Given the description of an element on the screen output the (x, y) to click on. 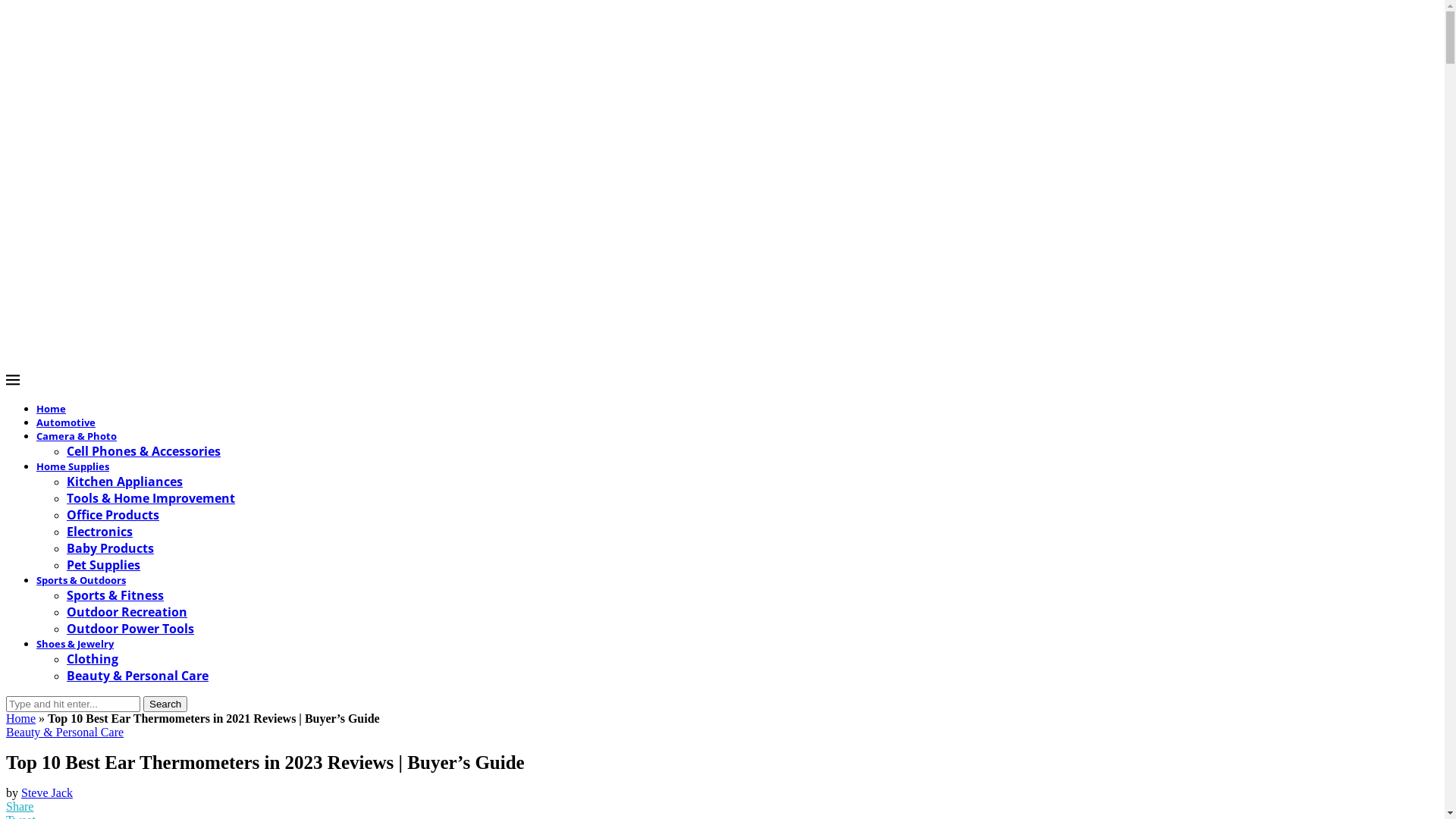
Beauty & Personal Care Element type: text (137, 675)
Home Supplies Element type: text (72, 466)
Office Products Element type: text (112, 514)
Electronics Element type: text (99, 531)
Clothing Element type: text (92, 658)
Share Element type: text (19, 805)
Outdoor Recreation Element type: text (126, 611)
Beauty & Personal Care Element type: text (64, 731)
Baby Products Element type: text (109, 547)
Automotive Element type: text (65, 422)
Sports & Outdoors Element type: text (80, 579)
Tools & Home Improvement Element type: text (150, 497)
Camera & Photo Element type: text (76, 435)
Shoes & Jewelry Element type: text (74, 643)
Sports & Fitness Element type: text (114, 594)
Kitchen Appliances Element type: text (124, 481)
Search Element type: text (165, 704)
Steve Jack Element type: text (46, 791)
Outdoor Power Tools Element type: text (130, 628)
Pet Supplies Element type: text (103, 564)
Cell Phones & Accessories Element type: text (143, 450)
Home Element type: text (50, 408)
Home Element type: text (20, 718)
